Given the description of an element on the screen output the (x, y) to click on. 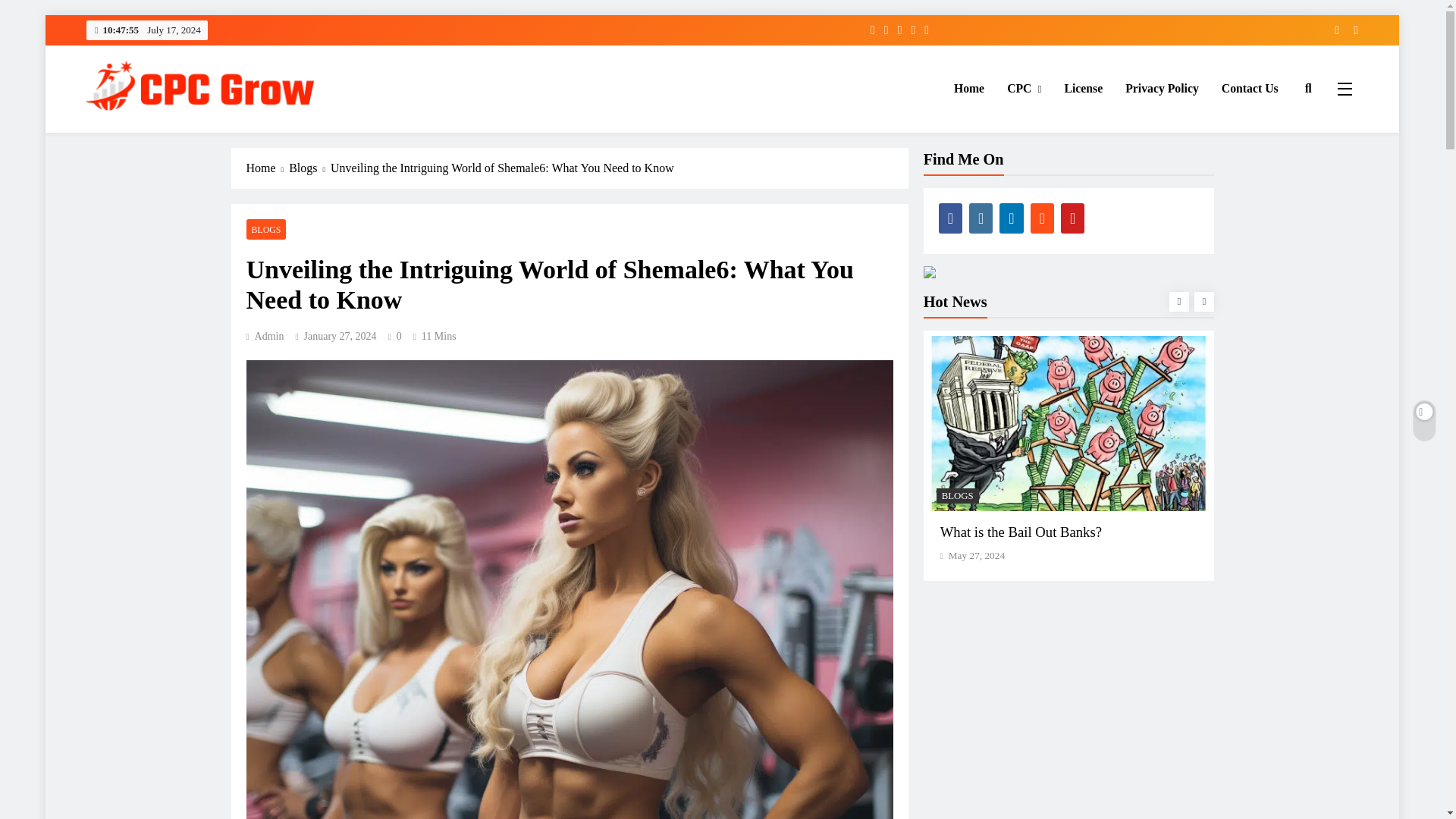
CPC (1023, 88)
Contact Us (1249, 87)
Privacy Policy (1161, 87)
CPC GROW (152, 134)
Home (968, 87)
License (1082, 87)
